Given the description of an element on the screen output the (x, y) to click on. 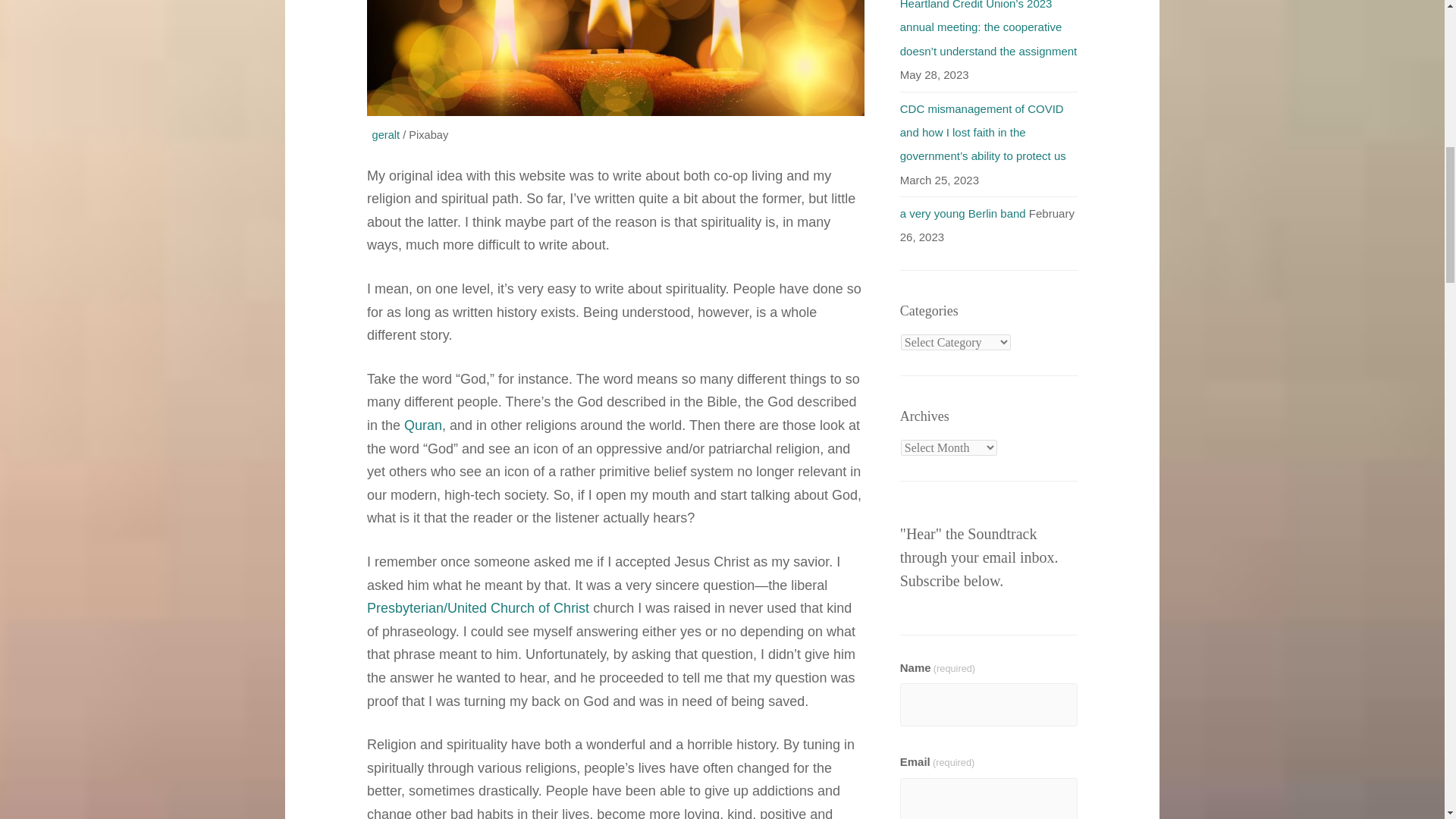
Quran (423, 425)
geralt (386, 134)
a very young Berlin band (962, 213)
